Given the description of an element on the screen output the (x, y) to click on. 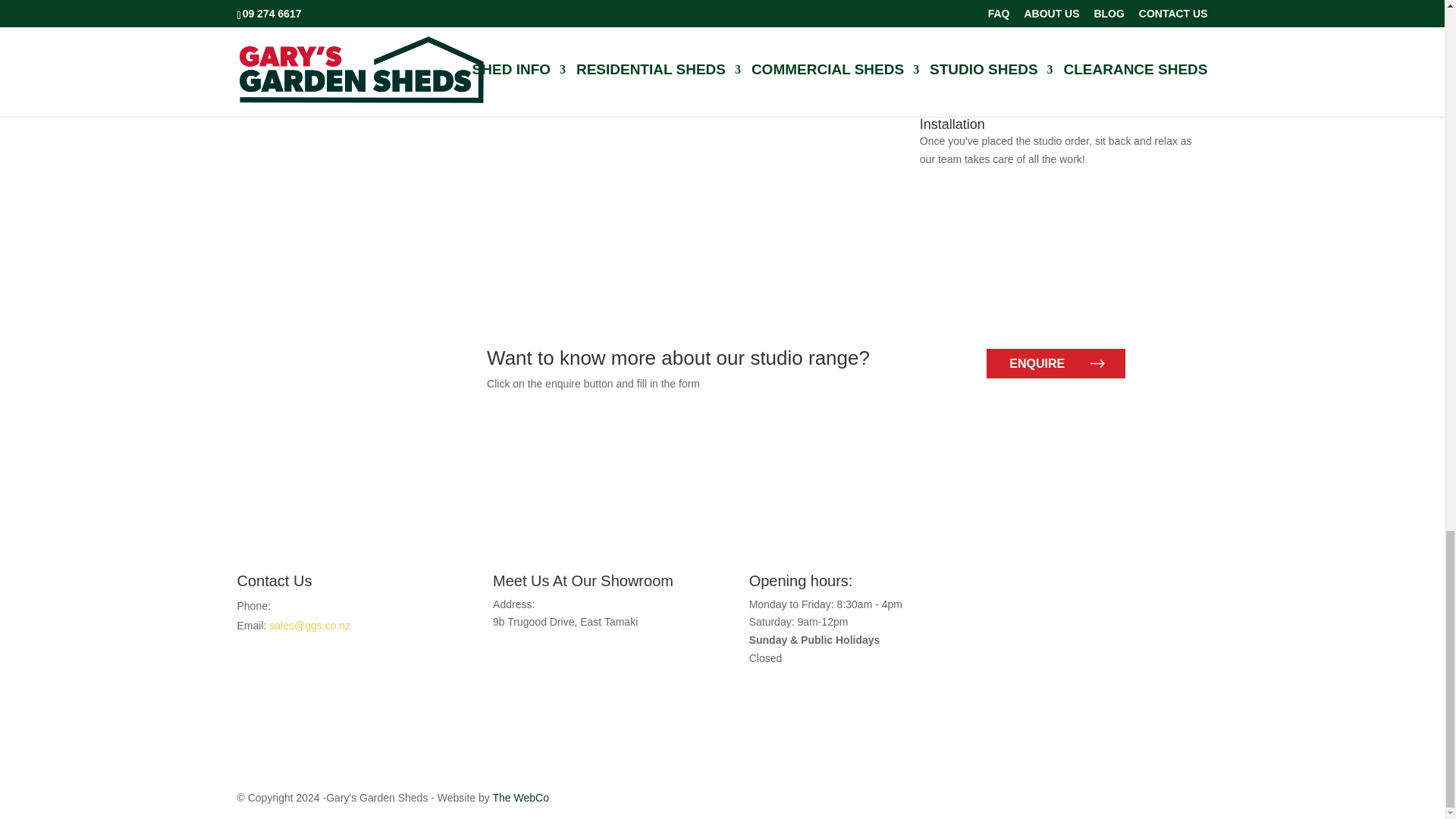
Inside-Shed (539, 12)
Follow us on Facebook (812, 695)
ENQUIRE (1056, 363)
09 274 6617 (303, 605)
The WebCo (520, 797)
gary-shed (346, 387)
Visit our showroom (545, 640)
ggs logo light (1105, 605)
